Given the description of an element on the screen output the (x, y) to click on. 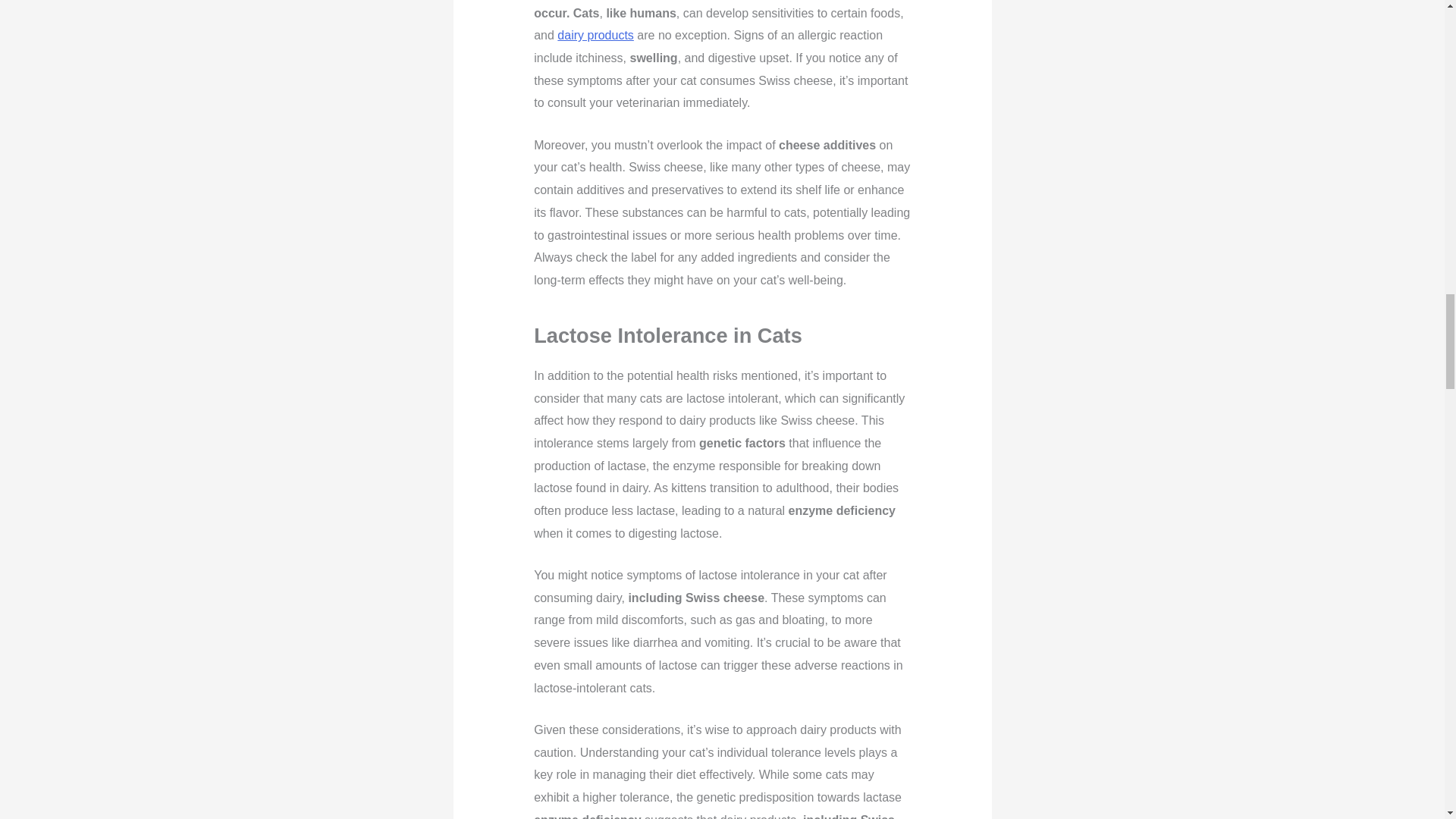
dairy products (595, 34)
dairy products (595, 34)
